Given the description of an element on the screen output the (x, y) to click on. 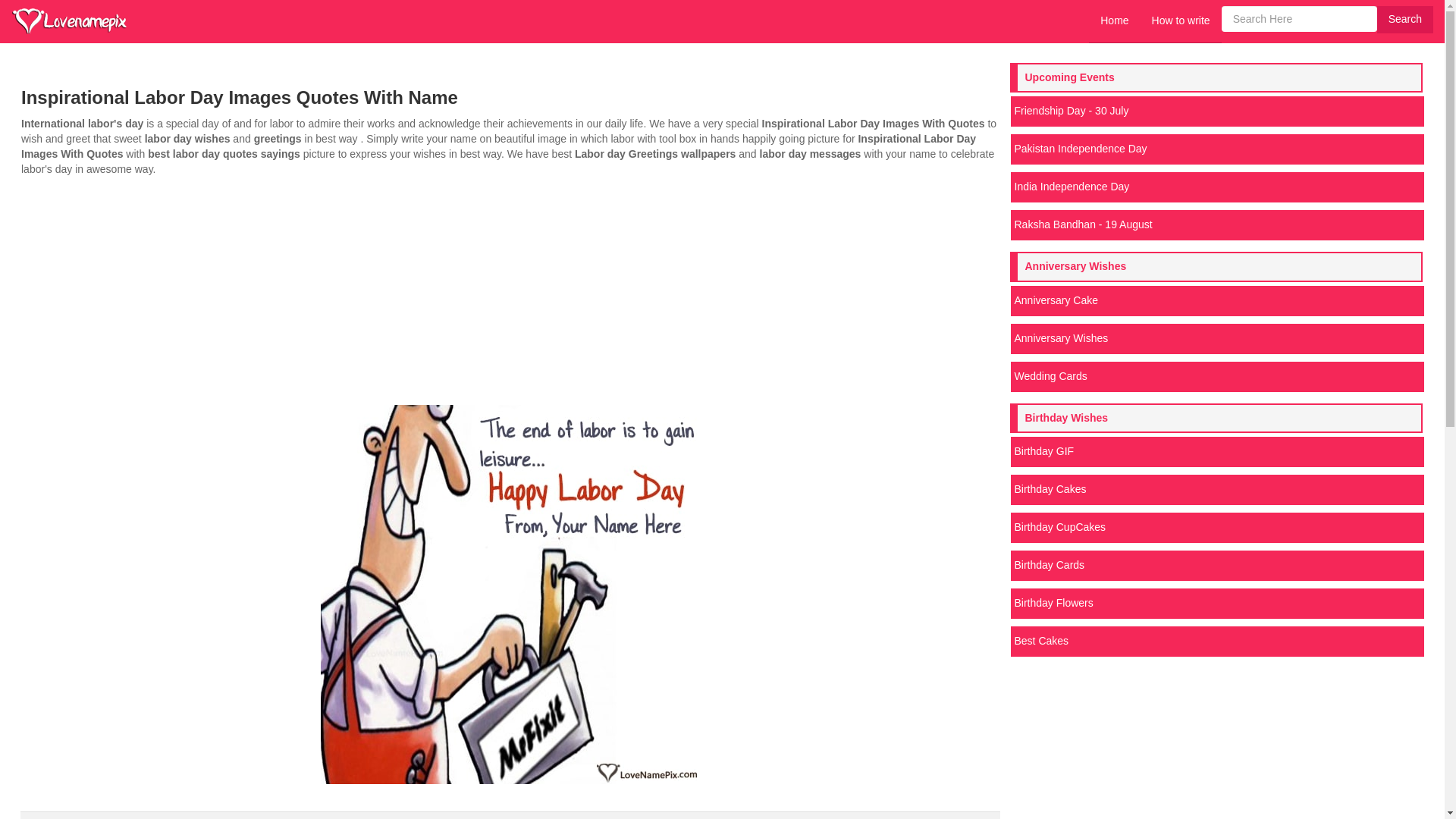
Birthday GIF With Name (1216, 451)
Birthday Cakes (1216, 490)
Birthday GIF (1216, 451)
Best Birthday Cakes (1216, 641)
Pakistan Independence Day Wishes With Name (1216, 149)
Birthday CupCakes (1216, 527)
Best Cakes (1216, 641)
Anniversary Cake With Name (1216, 300)
Birthday Flowers With Name (1216, 603)
Home (1114, 21)
